Given the description of an element on the screen output the (x, y) to click on. 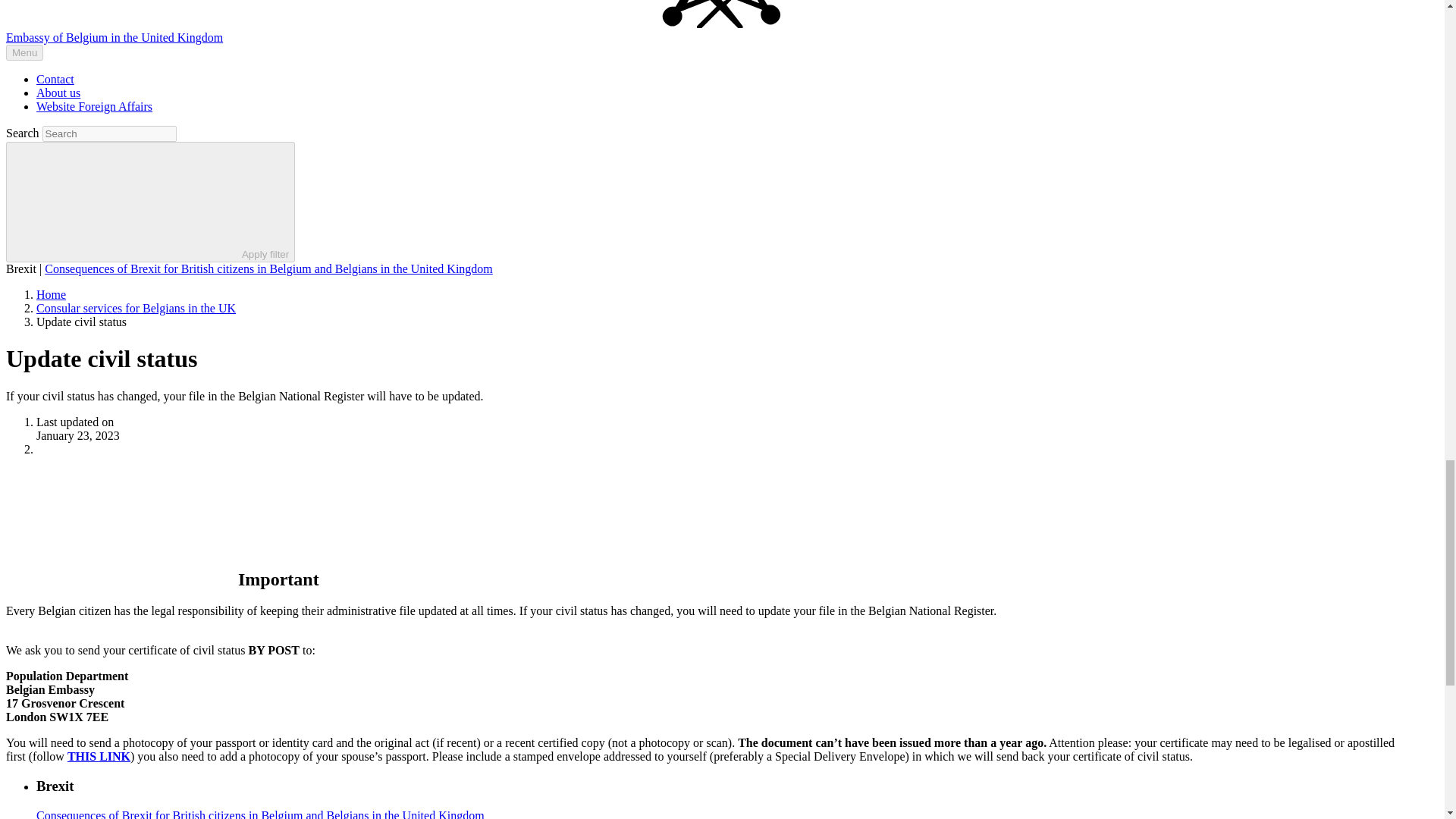
Consular services for Belgians in the UK (135, 308)
Website Foreign Affairs (94, 106)
Apply filter (150, 201)
About us (58, 92)
Search (109, 133)
Home (50, 294)
Home (50, 294)
Consular services for Belgians in the UK (135, 308)
Menu (24, 52)
THIS LINK (98, 756)
Contact (55, 78)
